Given the description of an element on the screen output the (x, y) to click on. 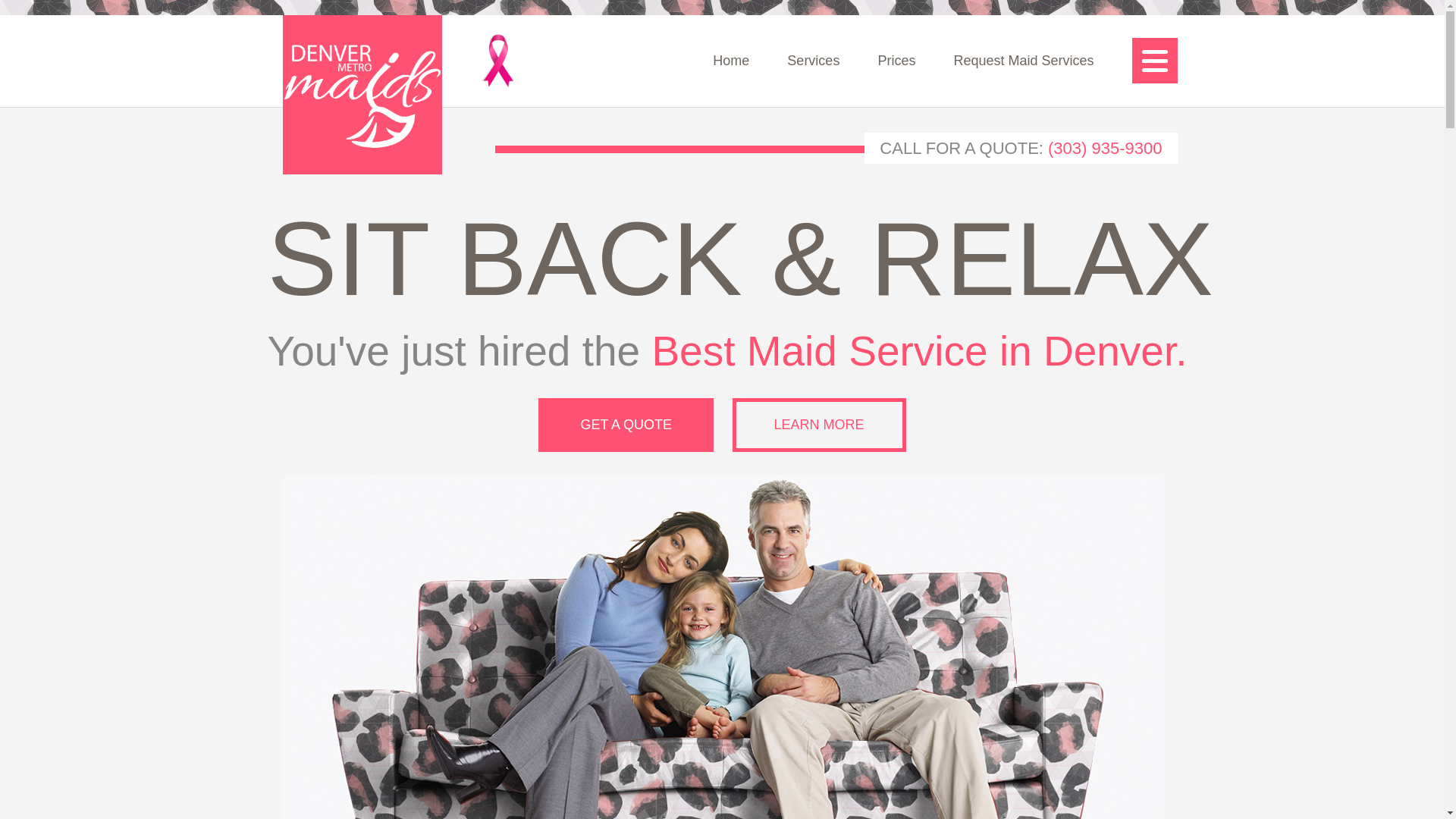
GET A QUOTE (625, 425)
Request Maid Services (1023, 60)
Services (813, 60)
Home (731, 60)
LEARN MORE (818, 425)
Prices (896, 60)
